Given the description of an element on the screen output the (x, y) to click on. 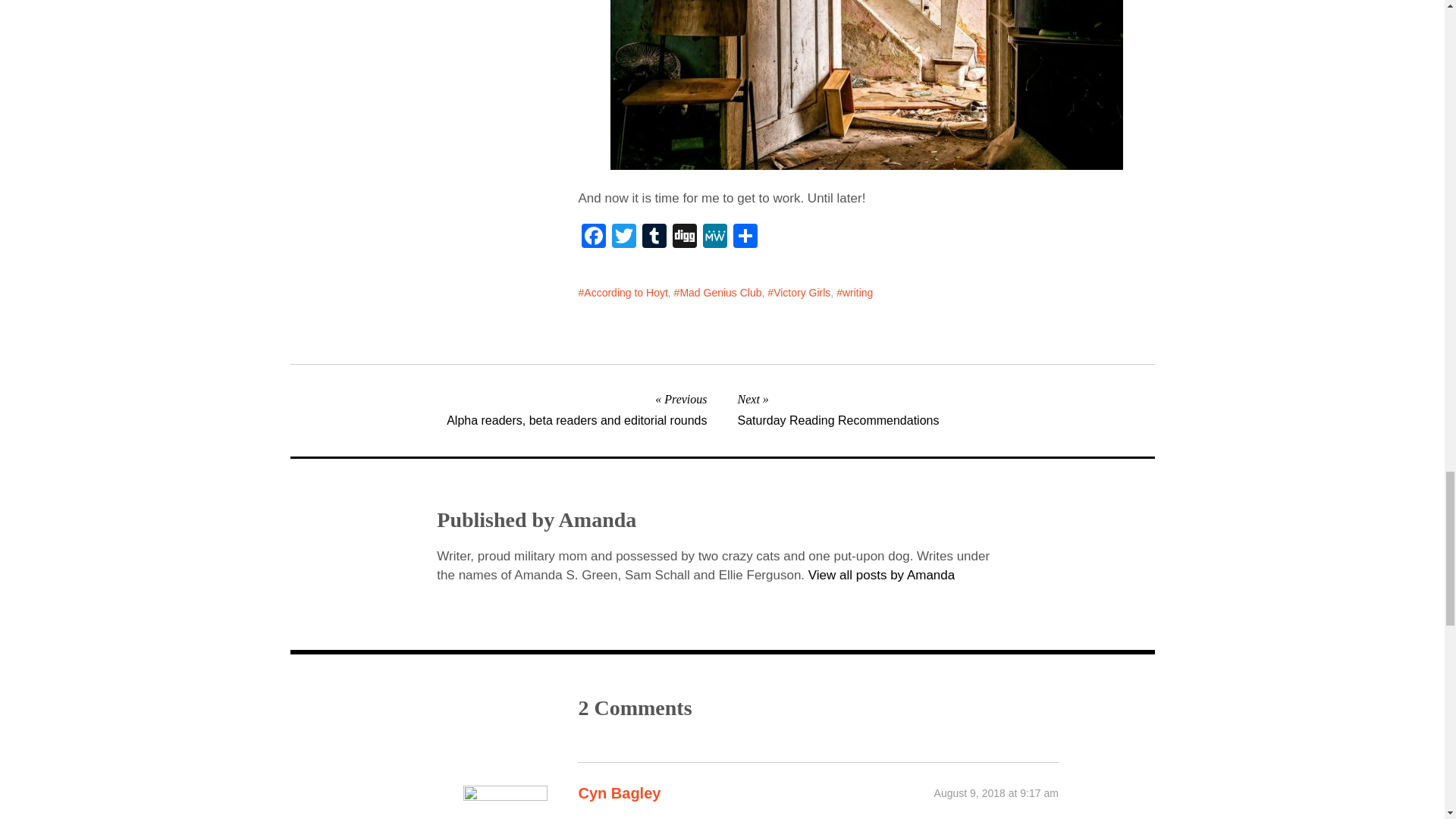
Twitter (623, 237)
MeWe (715, 237)
Mad Genius Club (717, 292)
Digg (684, 237)
Tumblr (654, 237)
Twitter (623, 237)
View all posts by Amanda (881, 575)
Victory Girls (798, 292)
Share (745, 237)
Tumblr (945, 408)
Digg (497, 408)
MeWe (654, 237)
According to Hoyt (684, 237)
